Given the description of an element on the screen output the (x, y) to click on. 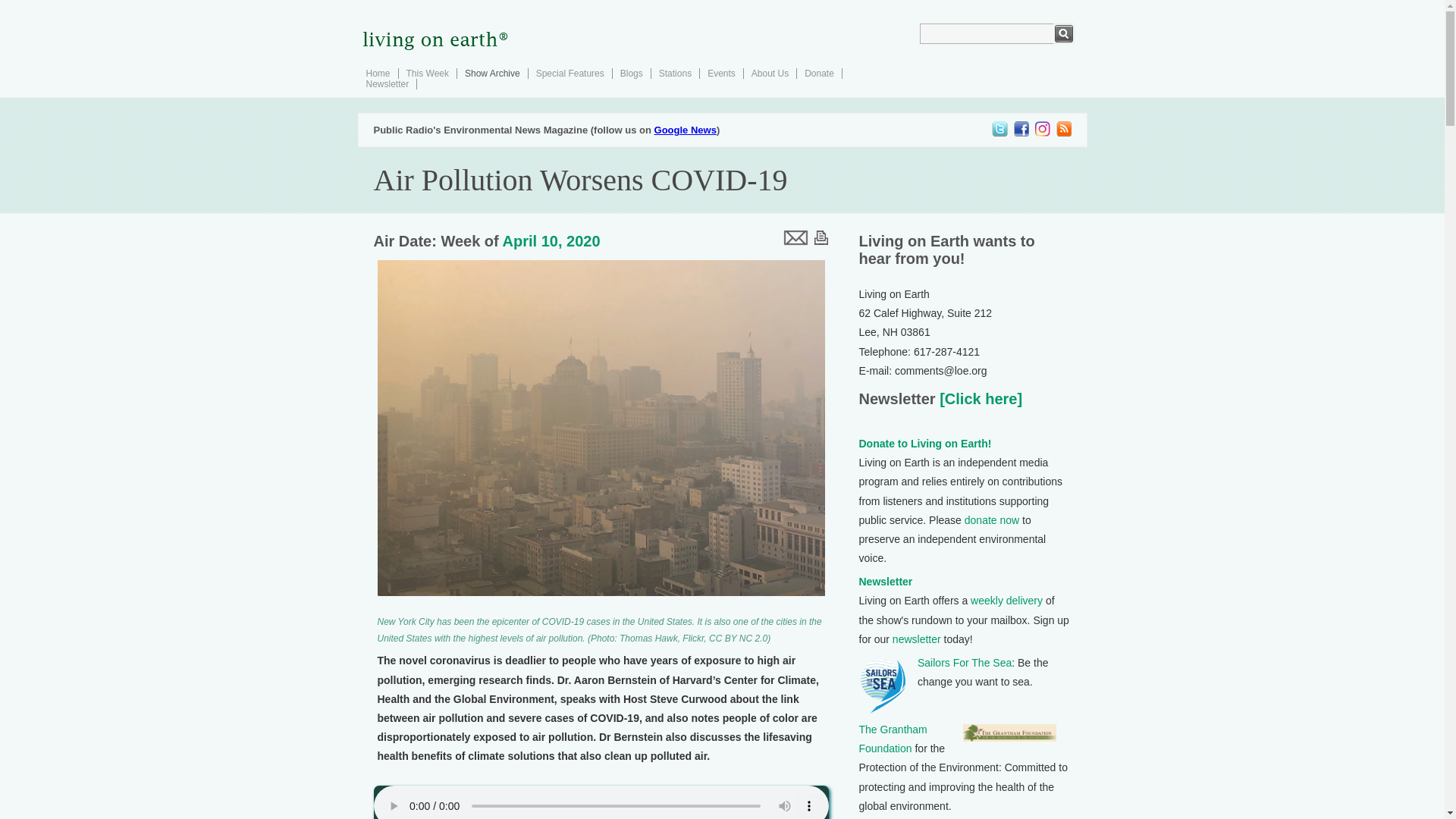
About Us (770, 72)
Blogs (631, 72)
Newsletter (387, 83)
Special Features (569, 72)
Home (377, 72)
Google News (684, 129)
print (819, 236)
Events (721, 72)
This Week (427, 72)
Stations (675, 72)
